Given the description of an element on the screen output the (x, y) to click on. 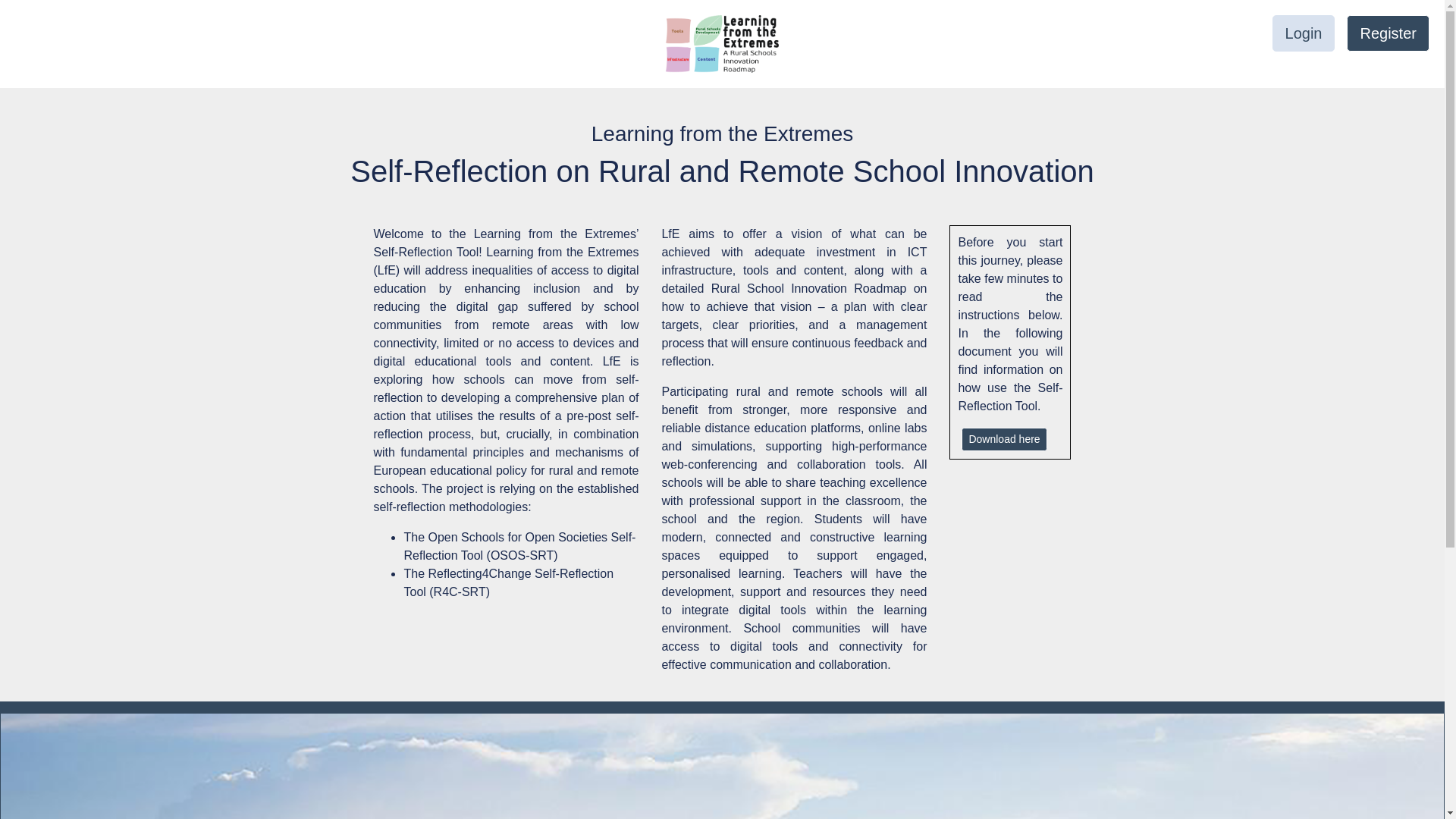
Register (1387, 33)
Login (1303, 33)
Download here (1003, 439)
